Given the description of an element on the screen output the (x, y) to click on. 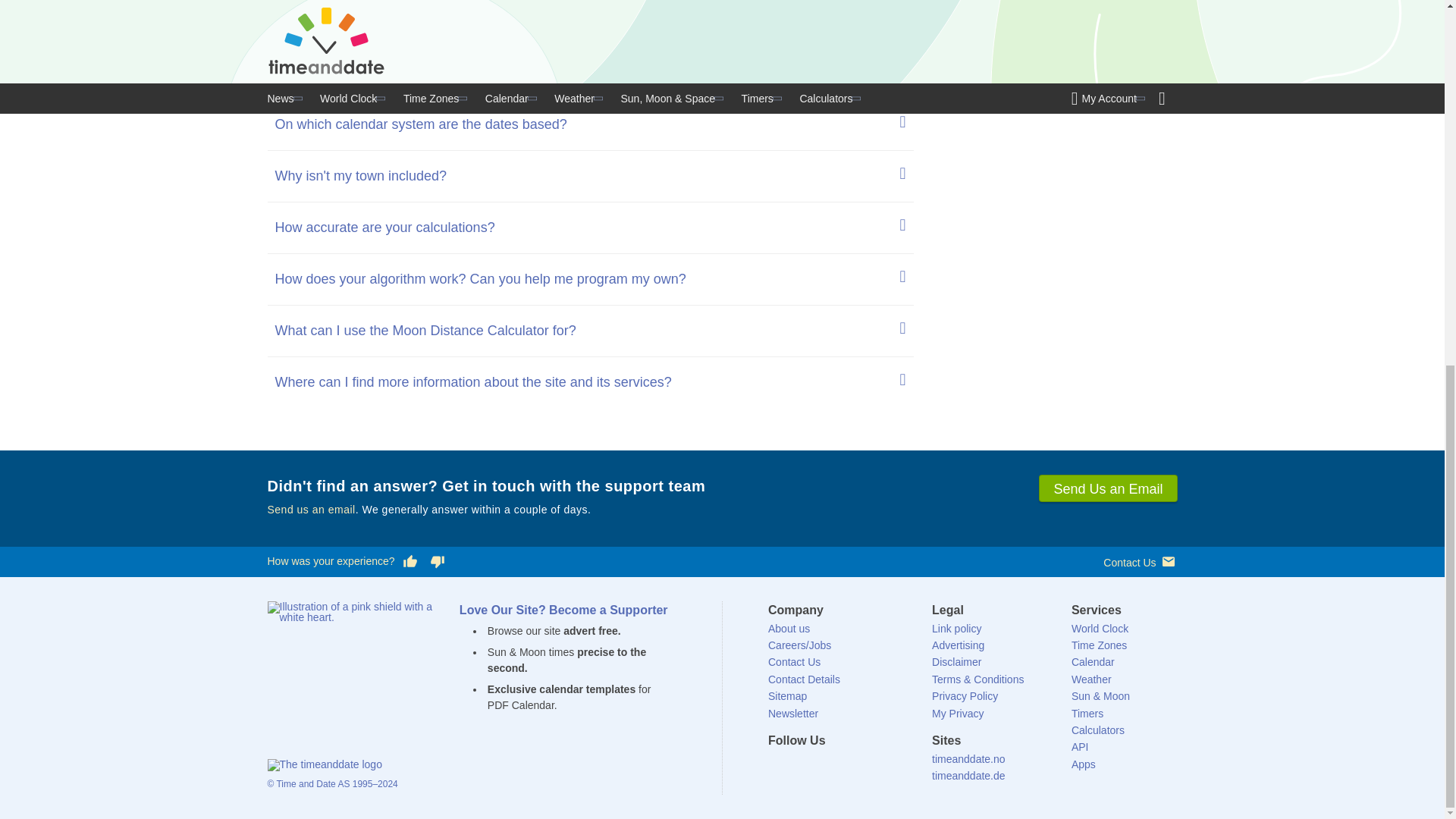
timeanddate.com on Facebook (777, 762)
timeanddate.com on Linkedin (828, 762)
timeanddate.com on Twitter (802, 762)
timeanddate.com on Instagram (854, 762)
timeanddate.com on YouTube (879, 762)
